Given the description of an element on the screen output the (x, y) to click on. 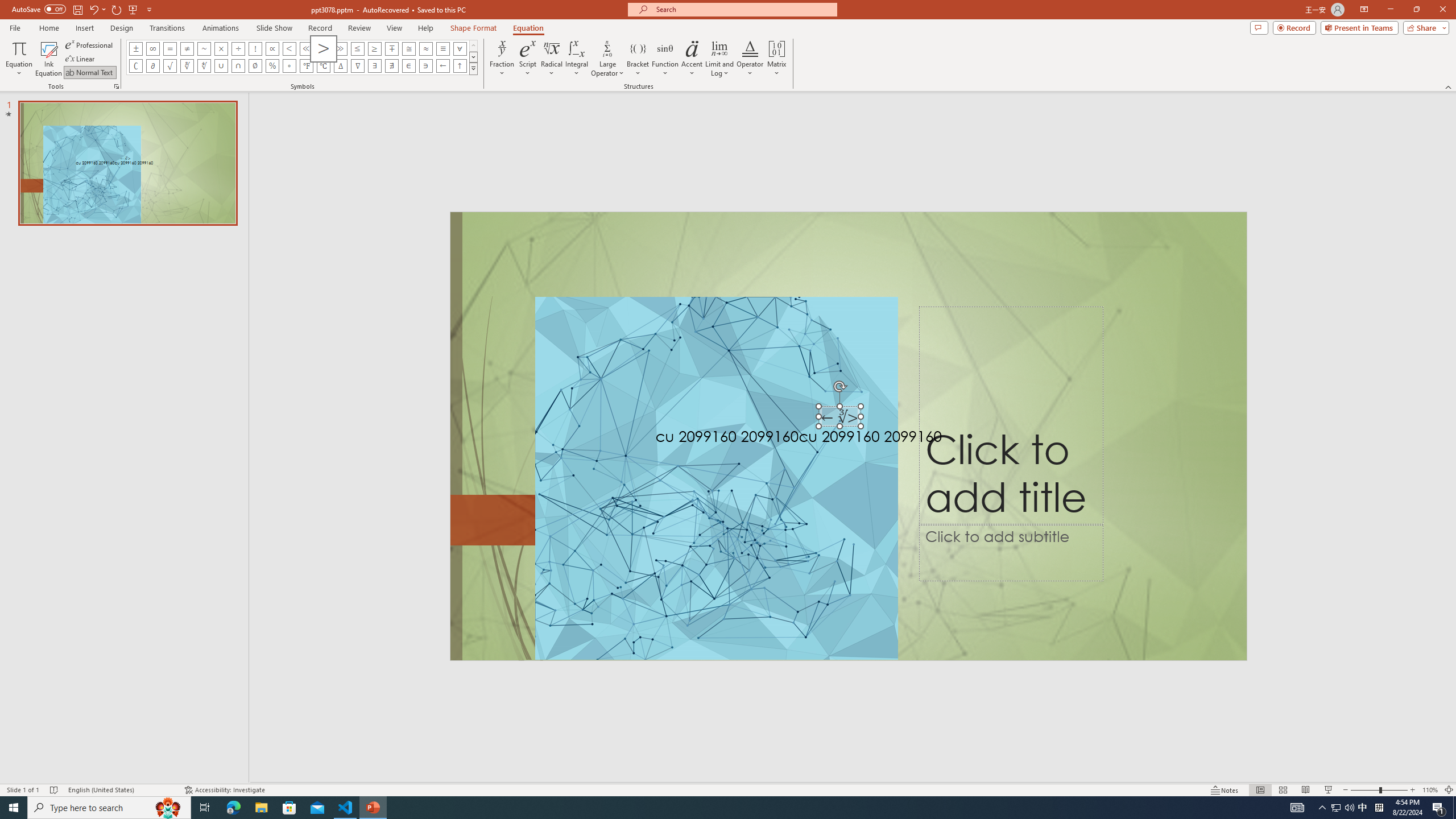
Script (527, 58)
Equation Symbol Less Than or Equal To (357, 48)
Equation Symbol Cube Root (187, 65)
Equation Symbol Much Less Than (306, 48)
Zoom 110% (1430, 790)
Equation Symbol Greater Than (322, 48)
Equation Symbol Increment (340, 65)
Equation Symbol Approximately Equal To (408, 48)
